Given the description of an element on the screen output the (x, y) to click on. 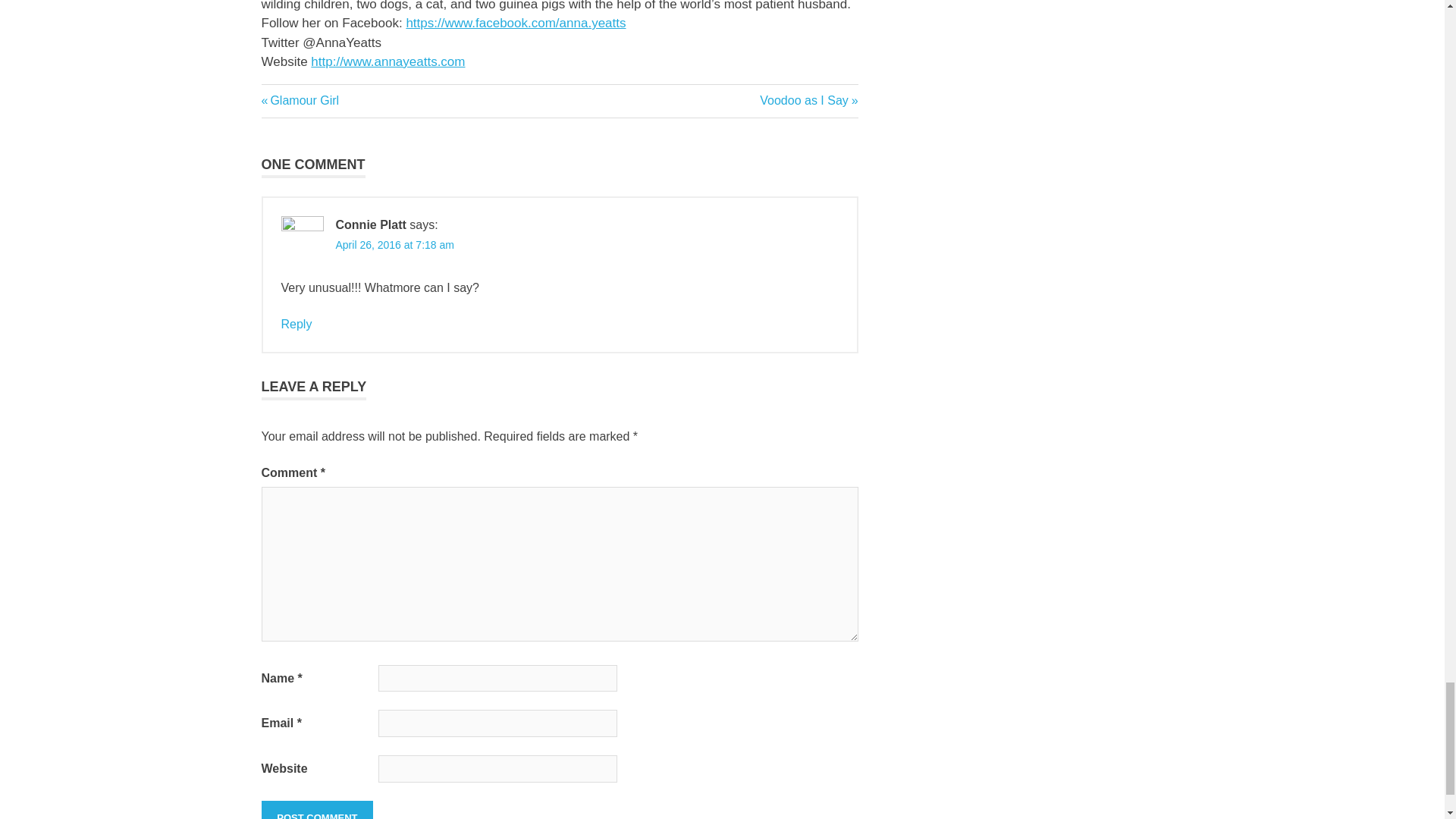
Reply (296, 323)
April 26, 2016 at 7:18 am (393, 244)
Post Comment (808, 100)
Anna Yeatts (316, 809)
Post Comment (299, 100)
